Given the description of an element on the screen output the (x, y) to click on. 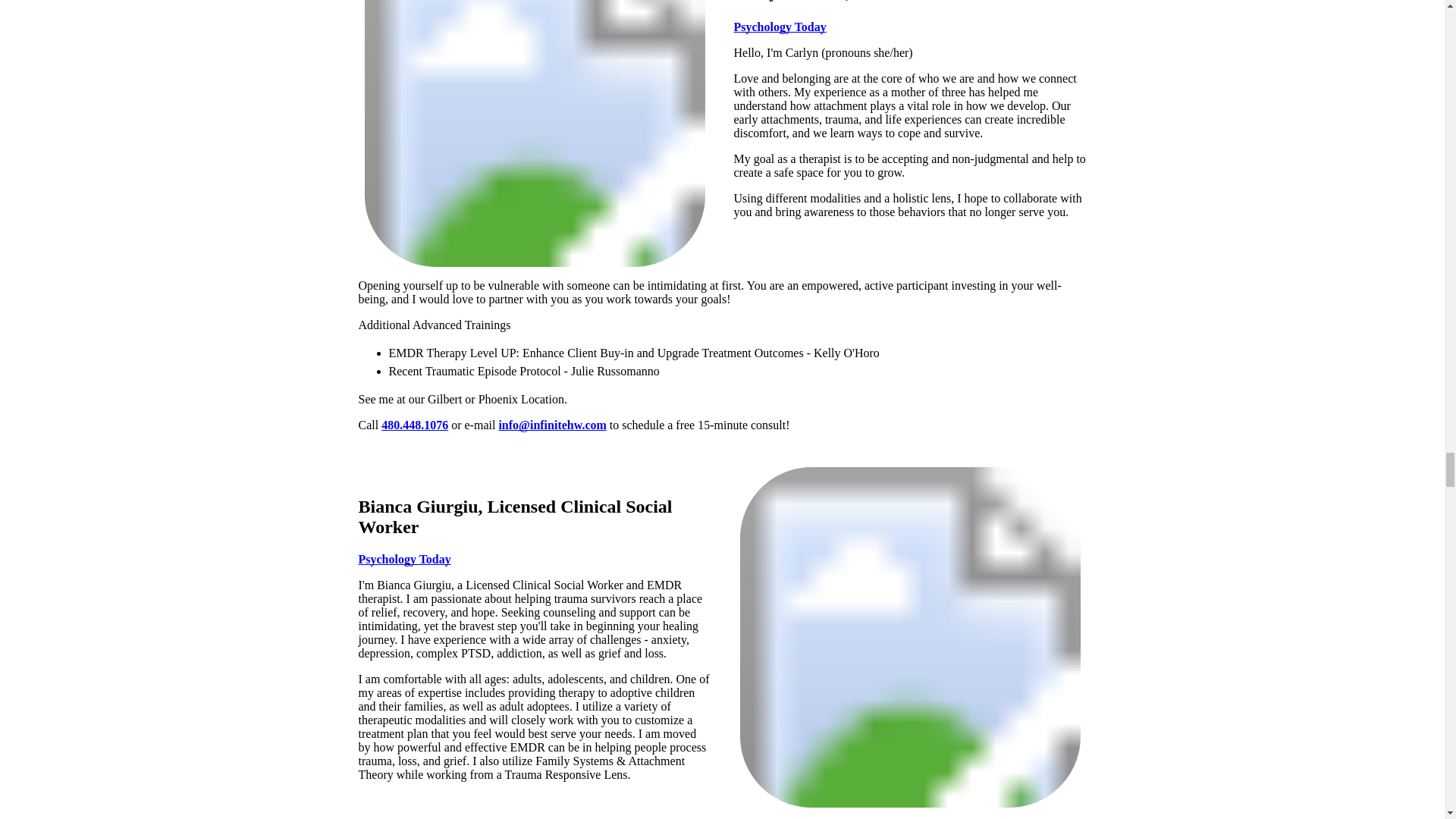
Bianca Giurgiu - Phoenix, AZ - Infinite Healing and Wellness (909, 636)
Carlyn Parker - Phoenix, AZ - Infinite Healing and Wellness (534, 133)
